Given the description of an element on the screen output the (x, y) to click on. 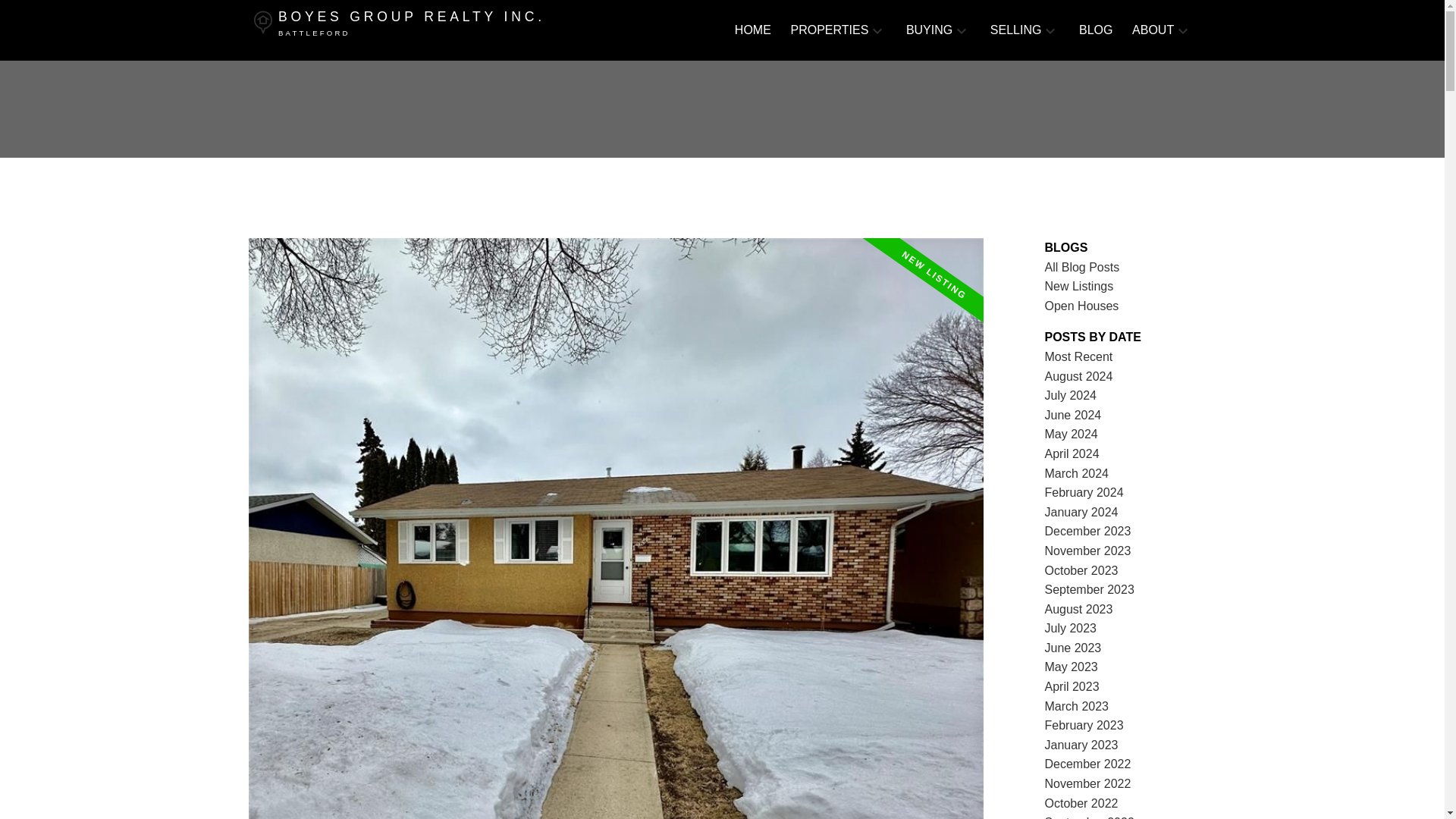
BLOG (1095, 30)
HOME (443, 30)
